Given the description of an element on the screen output the (x, y) to click on. 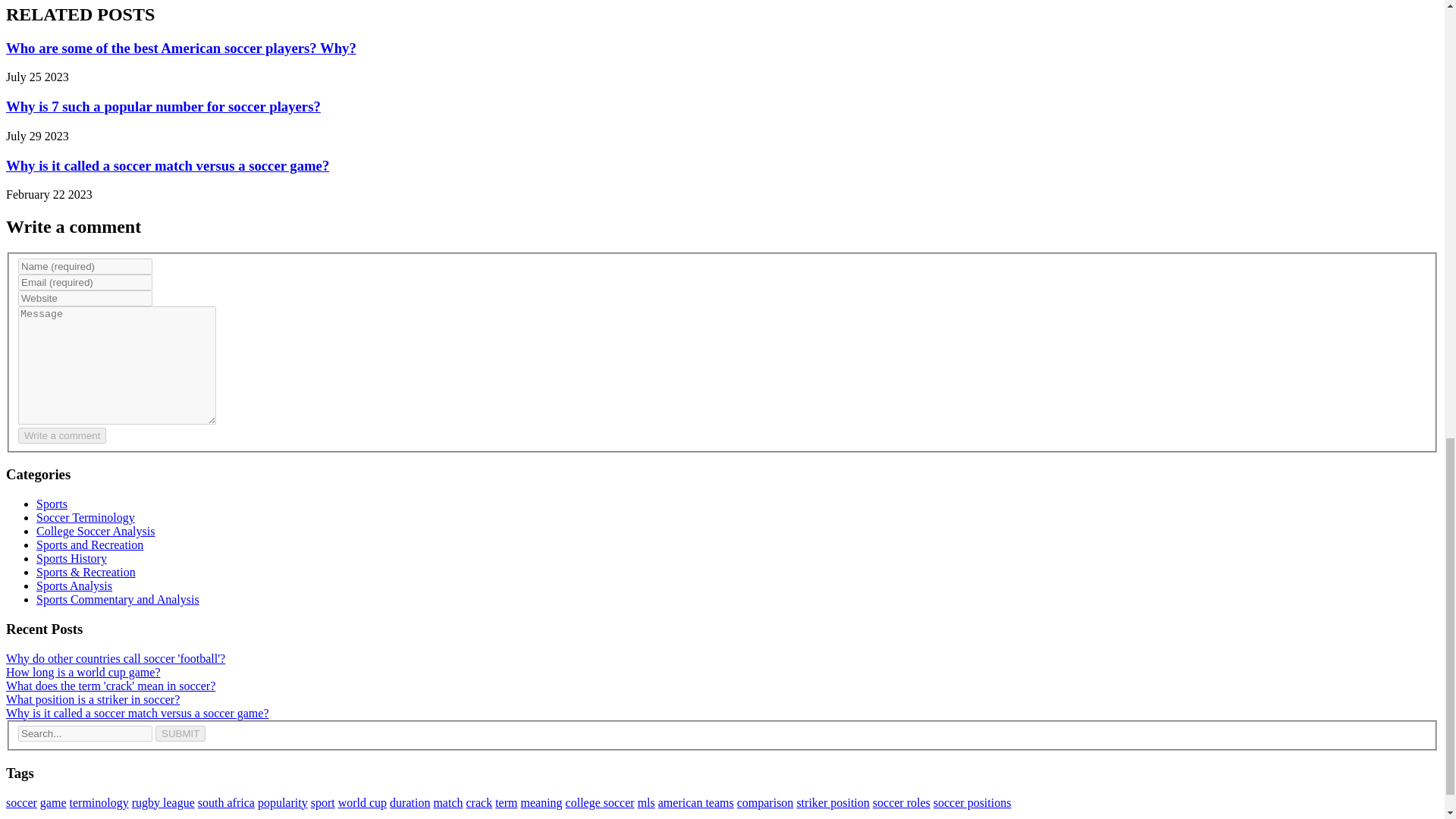
Why do other countries call soccer 'football'? (115, 658)
soccer (21, 802)
south africa (226, 802)
terminology (99, 802)
Write a comment (61, 435)
SUBMIT (180, 733)
Sports and Recreation (89, 544)
Who are some of the best American soccer players? Why? (180, 48)
Why is 7 such a popular number for soccer players? (162, 106)
College Soccer Analysis (95, 530)
